Given the description of an element on the screen output the (x, y) to click on. 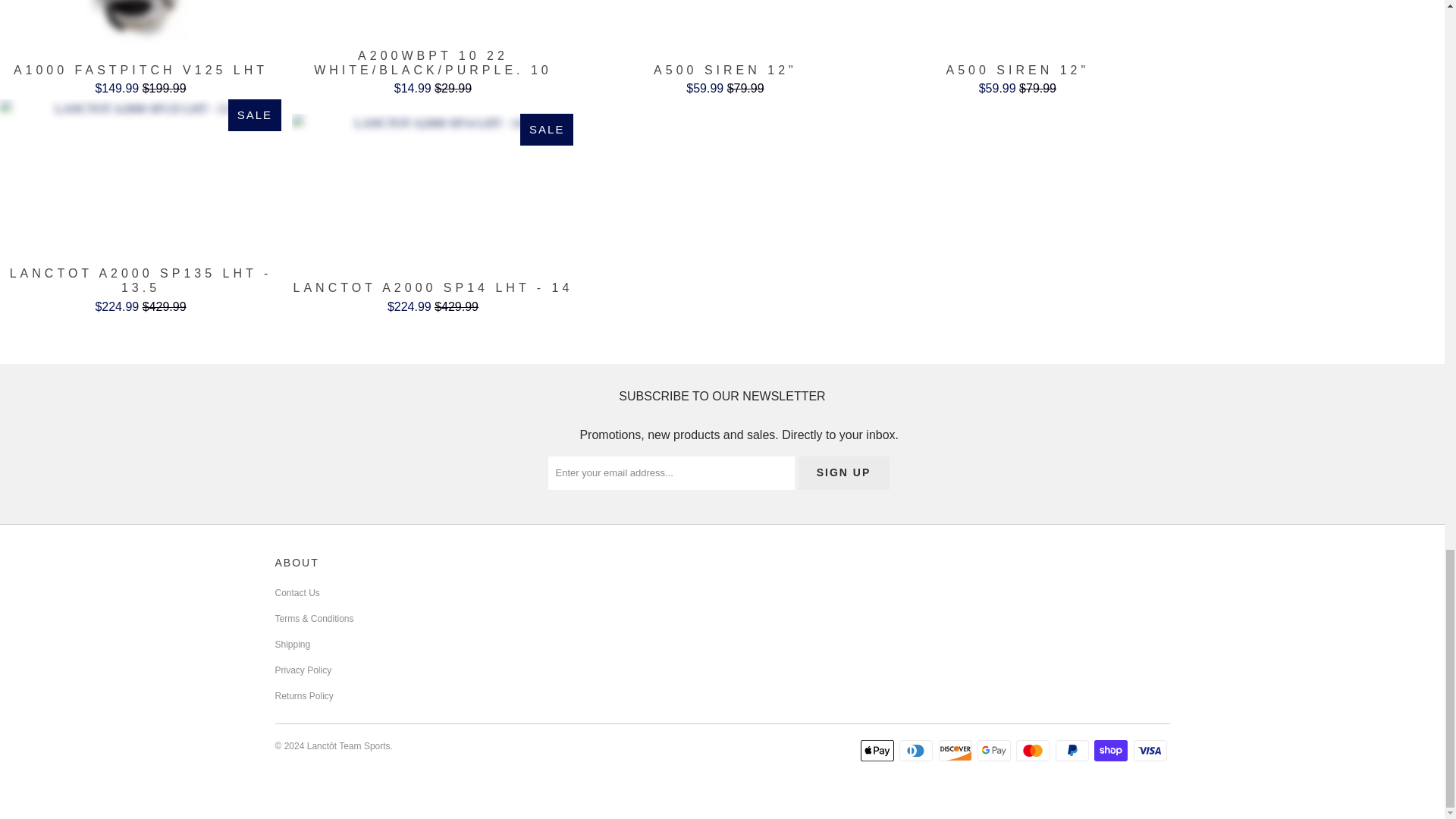
Sign Up (842, 472)
Apple Pay (878, 750)
PayPal (1073, 750)
Diners Club (917, 750)
Discover (957, 750)
Shop Pay (1112, 750)
Visa (1150, 750)
Mastercard (1034, 750)
Google Pay (994, 750)
